Given the description of an element on the screen output the (x, y) to click on. 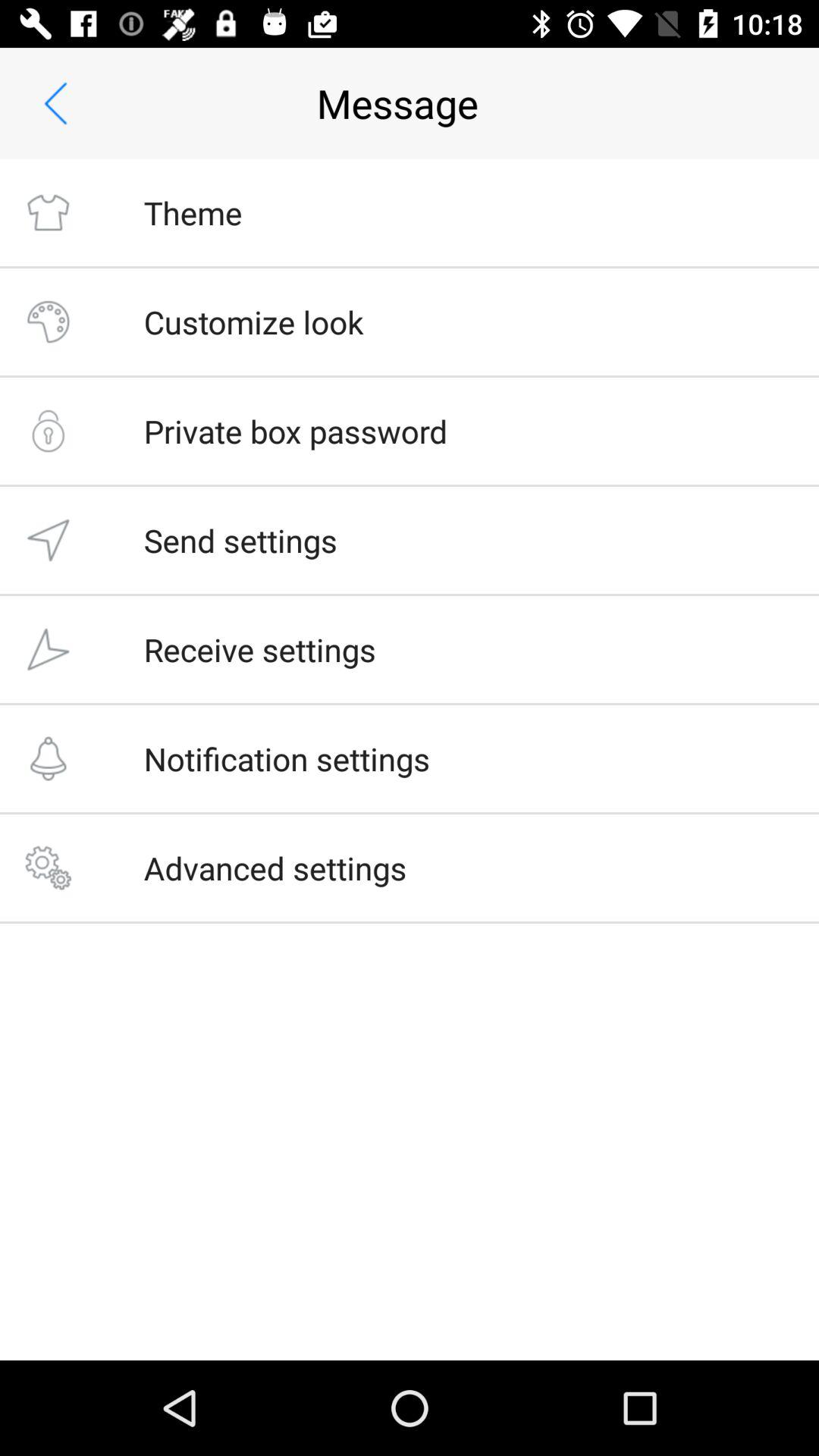
turn off advanced settings icon (274, 867)
